Given the description of an element on the screen output the (x, y) to click on. 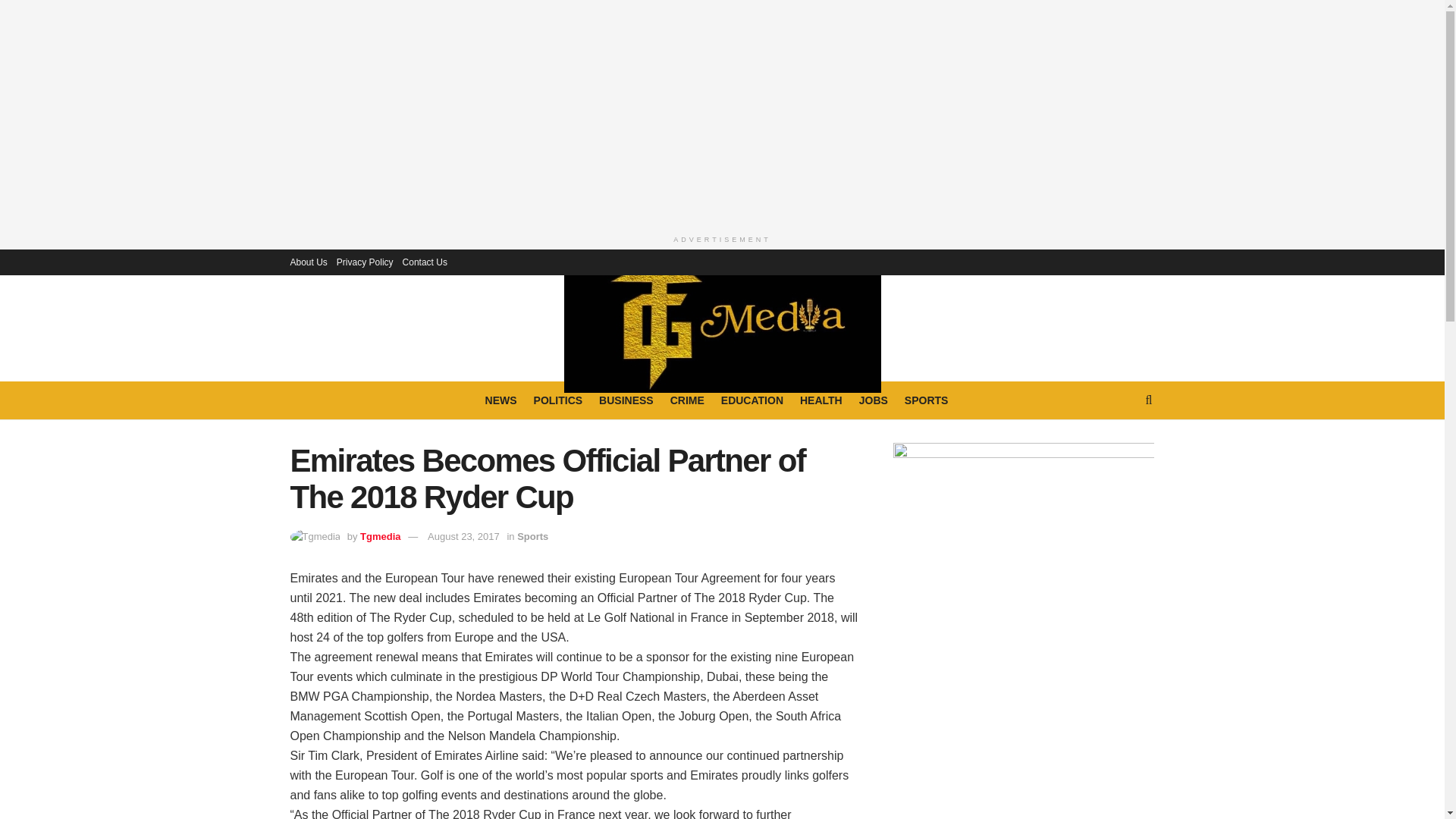
About Us (307, 261)
NEWS (500, 400)
JOBS (873, 400)
Privacy Policy (364, 261)
Contact Us (424, 261)
BUSINESS (625, 400)
SPORTS (926, 400)
Sports (532, 536)
August 23, 2017 (463, 536)
CRIME (686, 400)
EDUCATION (751, 400)
HEALTH (821, 400)
Tgmedia (379, 536)
POLITICS (558, 400)
